Given the description of an element on the screen output the (x, y) to click on. 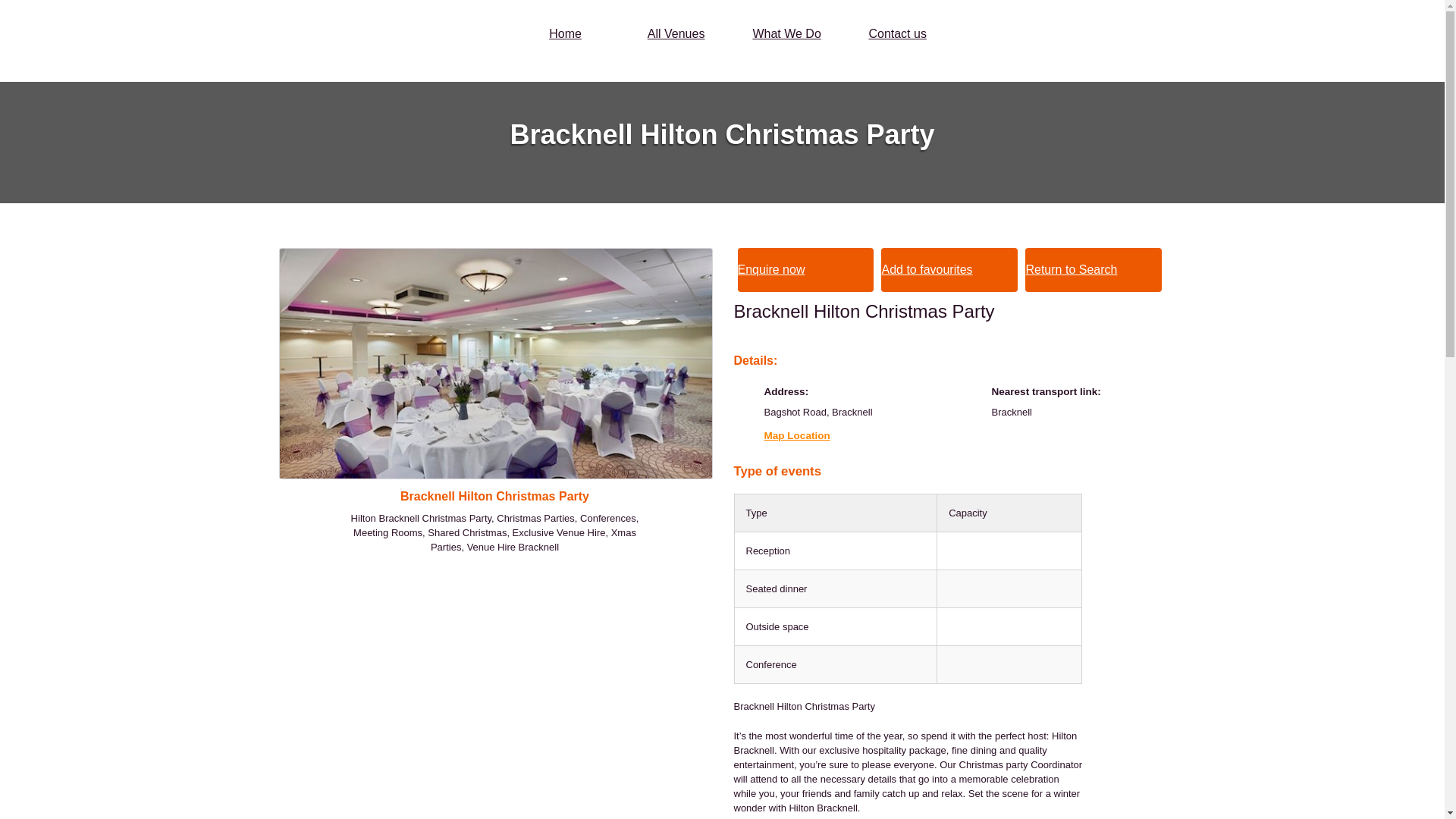
Home (564, 33)
Map Location (796, 435)
What We Do (786, 33)
Add to favourites (948, 269)
Contact us (896, 33)
Return to Search (1093, 269)
Enquire now (804, 269)
All Venues (675, 33)
